Given the description of an element on the screen output the (x, y) to click on. 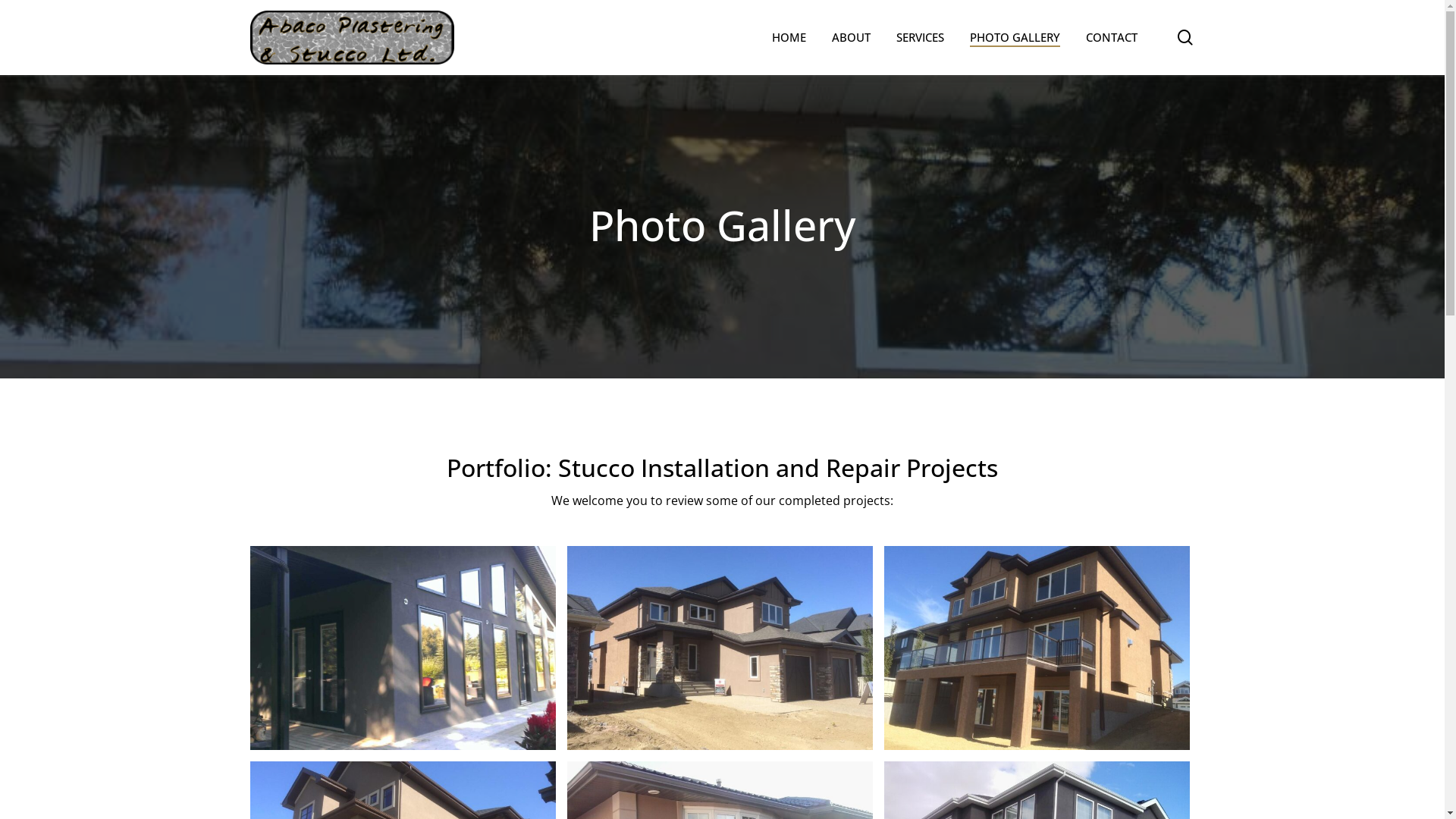
SERVICES Element type: text (920, 37)
1 (1) Element type: hover (402, 647)
HOME Element type: text (788, 37)
PHOTO GALLERY Element type: text (1014, 37)
17 Element type: hover (1036, 647)
CONTACT Element type: text (1111, 37)
search Element type: text (1185, 37)
18 Element type: hover (719, 647)
ABOUT Element type: text (850, 37)
